Given the description of an element on the screen output the (x, y) to click on. 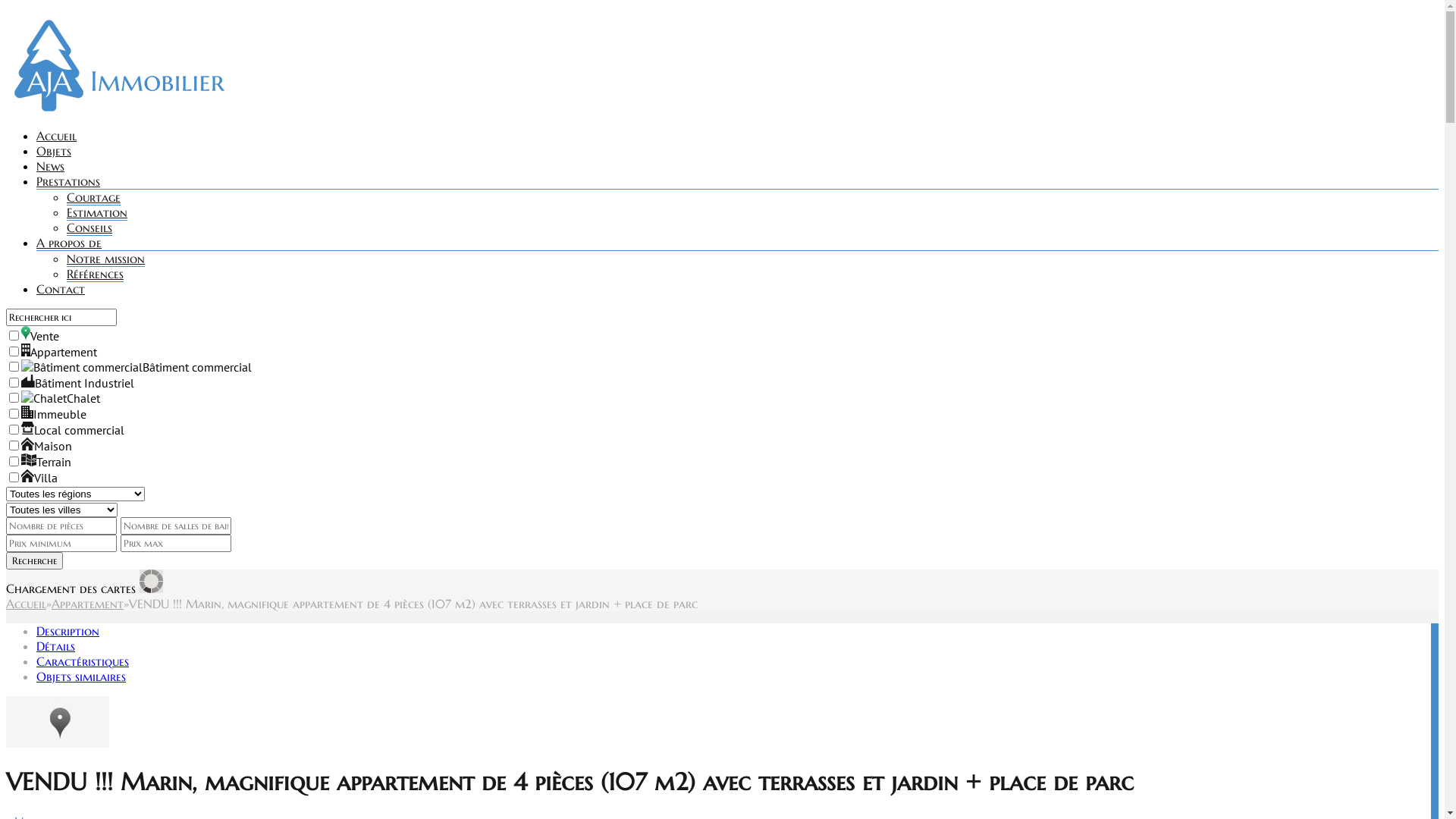
Conseils Element type: text (89, 227)
Notre mission Element type: text (105, 258)
A propos de Element type: text (68, 242)
Estimation Element type: text (96, 212)
Contact Element type: text (60, 288)
Courtage Element type: text (93, 197)
News Element type: text (50, 165)
Appartement Element type: text (87, 603)
Accueil Element type: text (56, 135)
Prestations Element type: text (68, 180)
Objets Element type: text (53, 150)
Accueil Element type: text (26, 603)
Description Element type: text (67, 630)
Objets similaires Element type: text (80, 676)
Recherche Element type: text (34, 560)
